Given the description of an element on the screen output the (x, y) to click on. 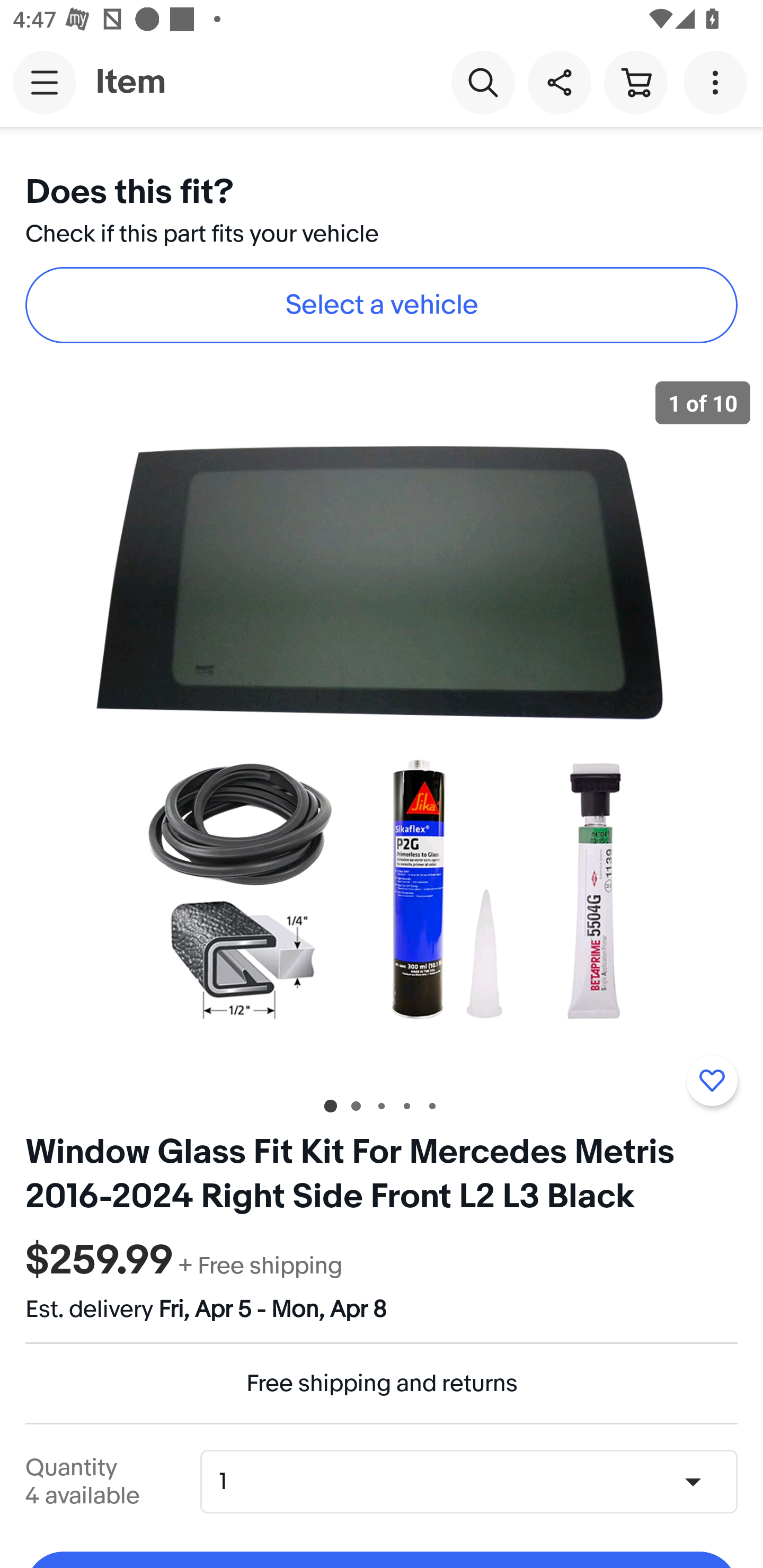
Main navigation, open (44, 82)
Search (482, 81)
Share this item (559, 81)
Cart button shopping cart (635, 81)
More options (718, 81)
Select a vehicle (381, 304)
Item image 1 of 10 (381, 724)
Add to watchlist (711, 1080)
Quantity,1,4 available 1 (474, 1481)
